Given the description of an element on the screen output the (x, y) to click on. 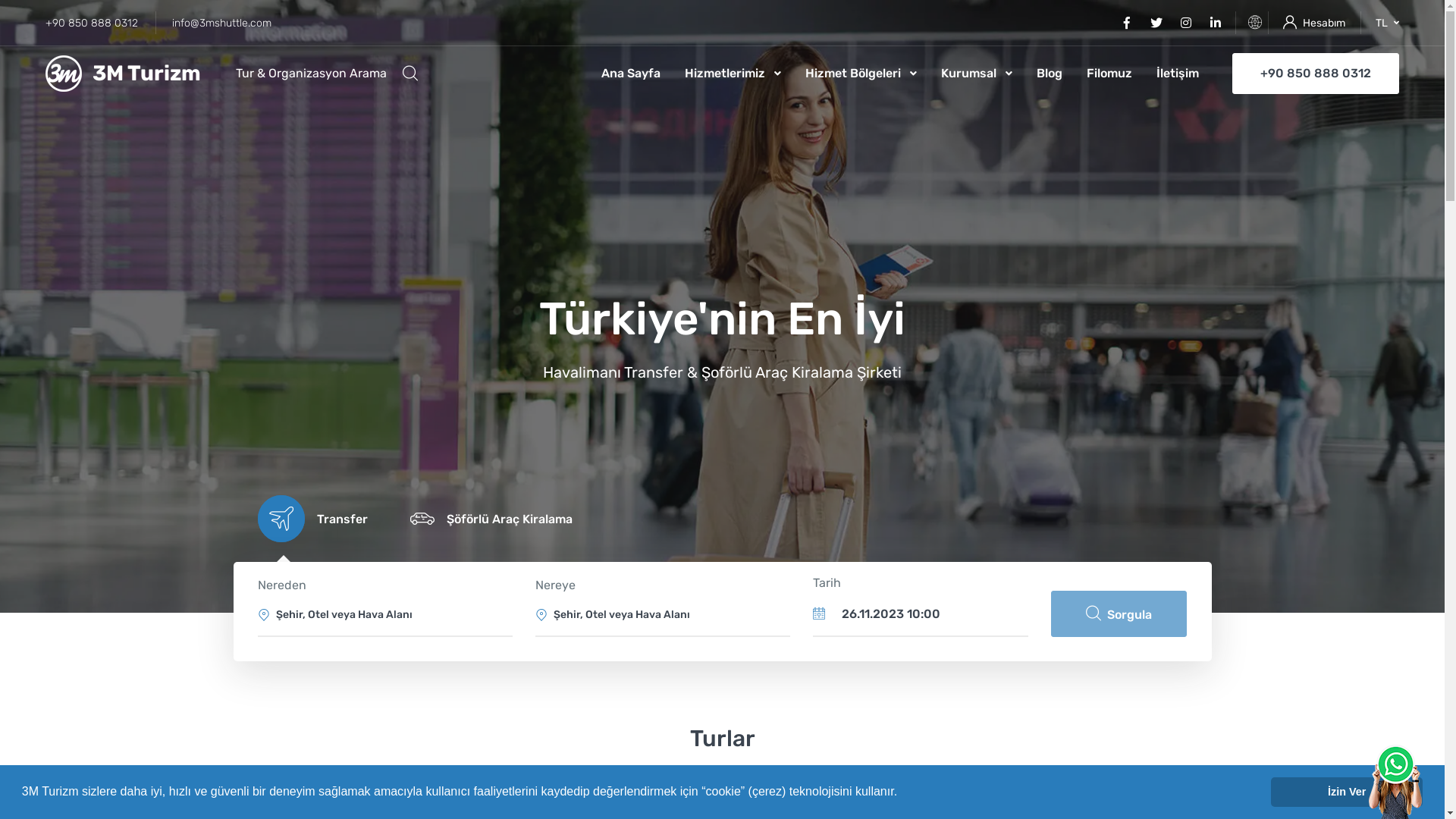
Filomuz Element type: text (1109, 73)
info@3mshuttle.com Element type: text (221, 22)
Kurumsal Element type: text (976, 73)
Transfer Element type: text (309, 518)
Hizmetlerimiz Element type: text (732, 73)
+90 850 888 0312 Element type: text (1315, 73)
+90 850 888 0312 Element type: text (99, 22)
Tur & Organizasyon Arama Element type: text (326, 73)
TL Element type: text (1387, 23)
Sorgula Element type: text (1118, 613)
Blog Element type: text (1049, 73)
3M Turizm Element type: text (122, 73)
Ana Sayfa Element type: text (636, 73)
